Given the description of an element on the screen output the (x, y) to click on. 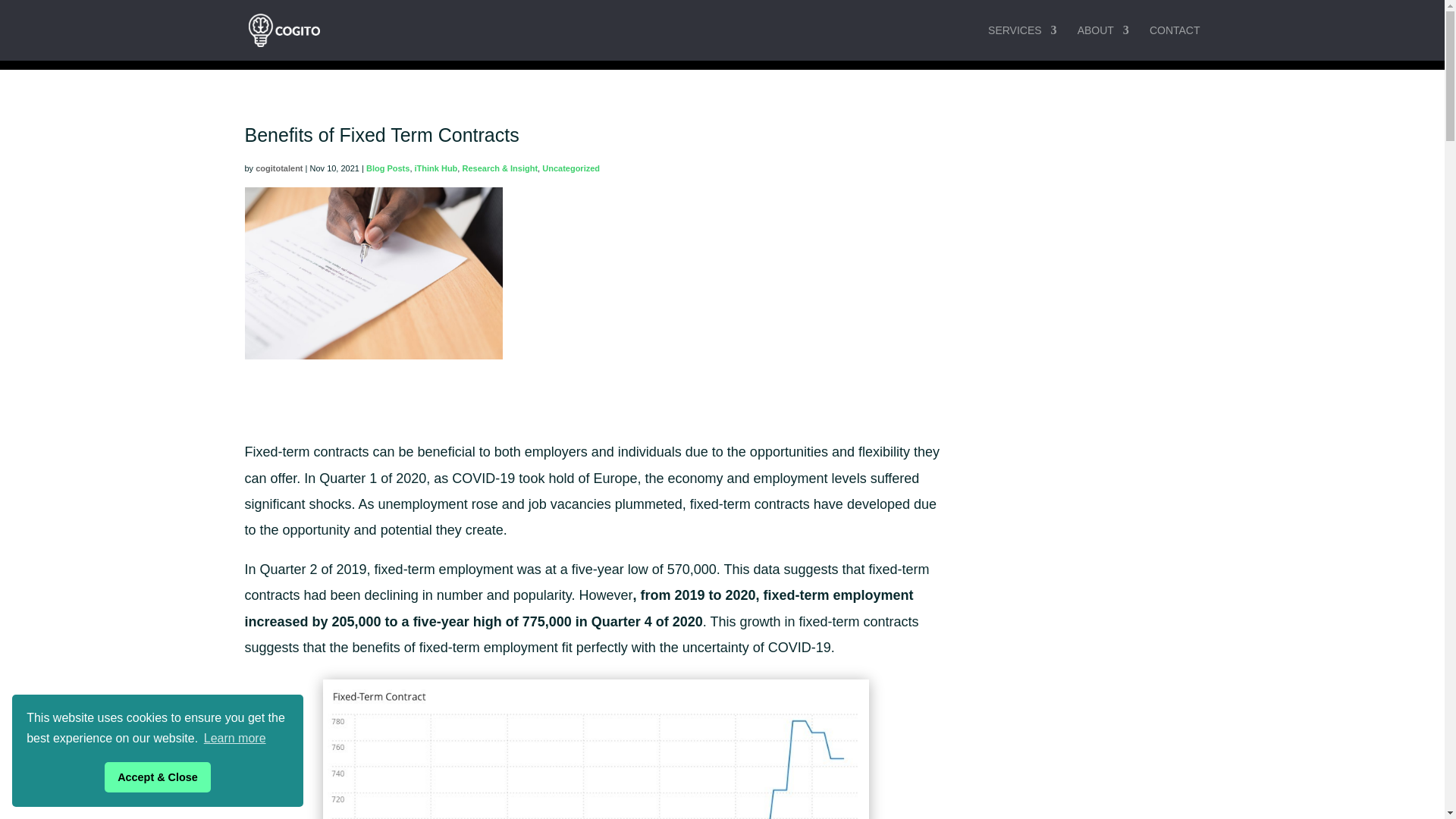
cogitotalent (279, 167)
Blog Posts (387, 167)
CONTACT (1174, 42)
Learn more (234, 738)
Uncategorized (570, 167)
SERVICES (1022, 42)
ABOUT (1103, 42)
iThink Hub (436, 167)
FTC (596, 749)
Posts by cogitotalent (279, 167)
